Given the description of an element on the screen output the (x, y) to click on. 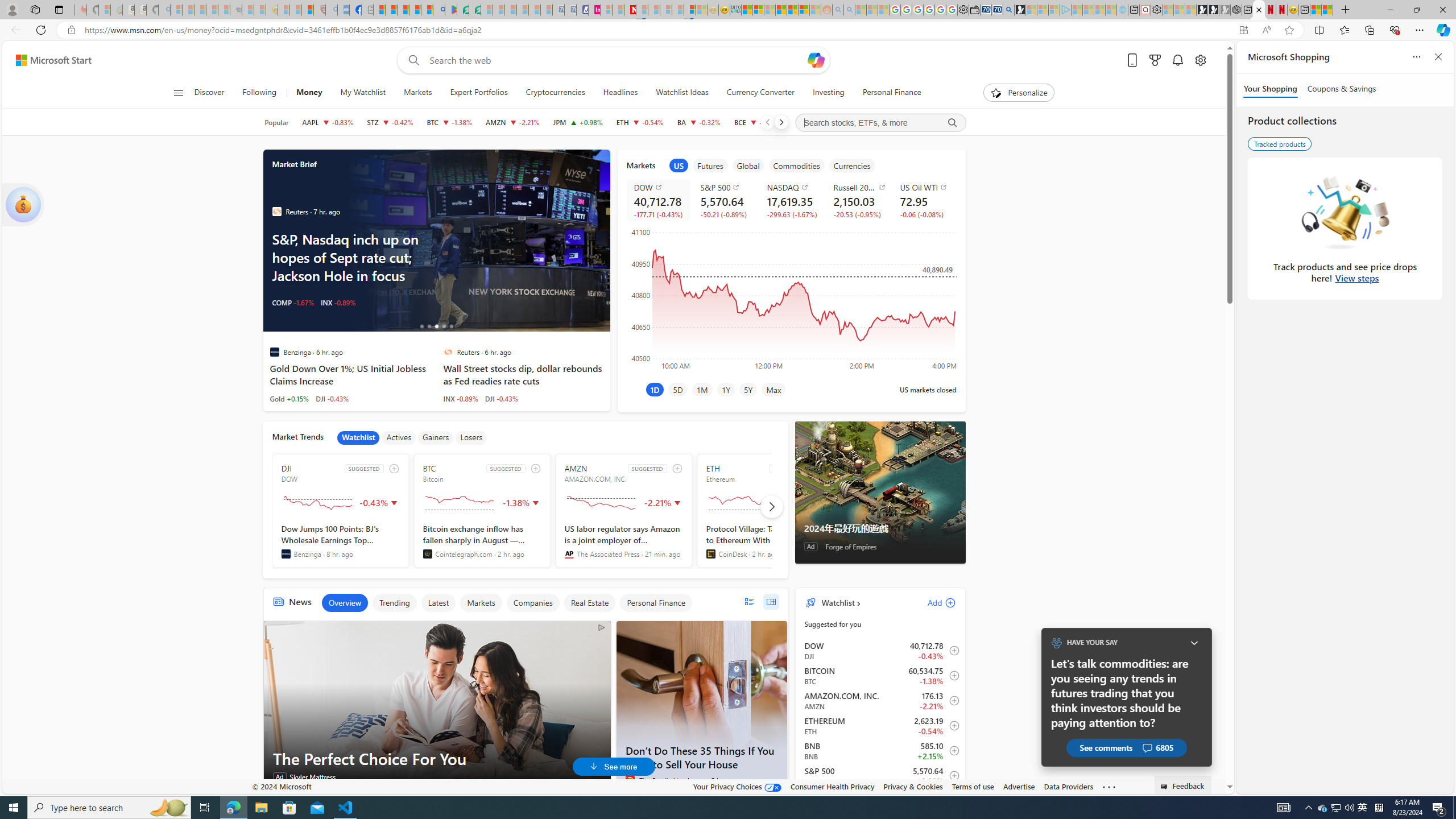
S&P 500 INX decrease 5,570.64 -50.21 -0.89% (725, 200)
Personalize (1019, 92)
US Oil WTI USOIL decrease 72.95 -0.06 -0.08% (924, 200)
item4 (796, 164)
Search stocks, ETFs, & more (880, 122)
The Family Handyman (629, 779)
The Weather Channel - MSN - Sleeping (200, 9)
Max (773, 389)
